Given the description of an element on the screen output the (x, y) to click on. 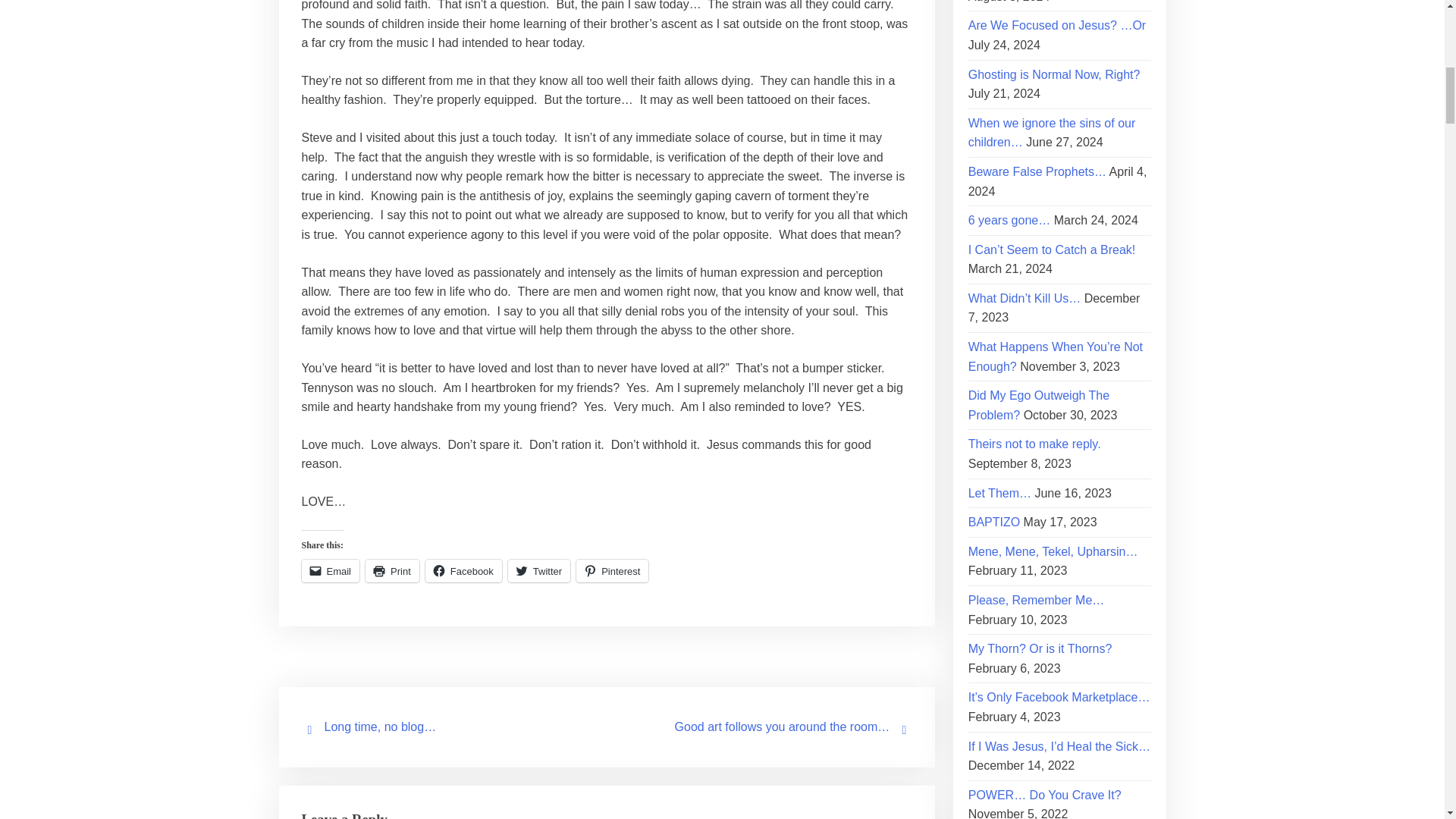
Click to share on Facebook (463, 570)
Did My Ego Outweigh The Problem? (1038, 405)
Twitter (539, 570)
Pinterest (611, 570)
Click to print (392, 570)
My Thorn? Or is it Thorns? (1040, 648)
Print (392, 570)
Email (330, 570)
Click to share on Pinterest (611, 570)
Click to email a link to a friend (330, 570)
